Given the description of an element on the screen output the (x, y) to click on. 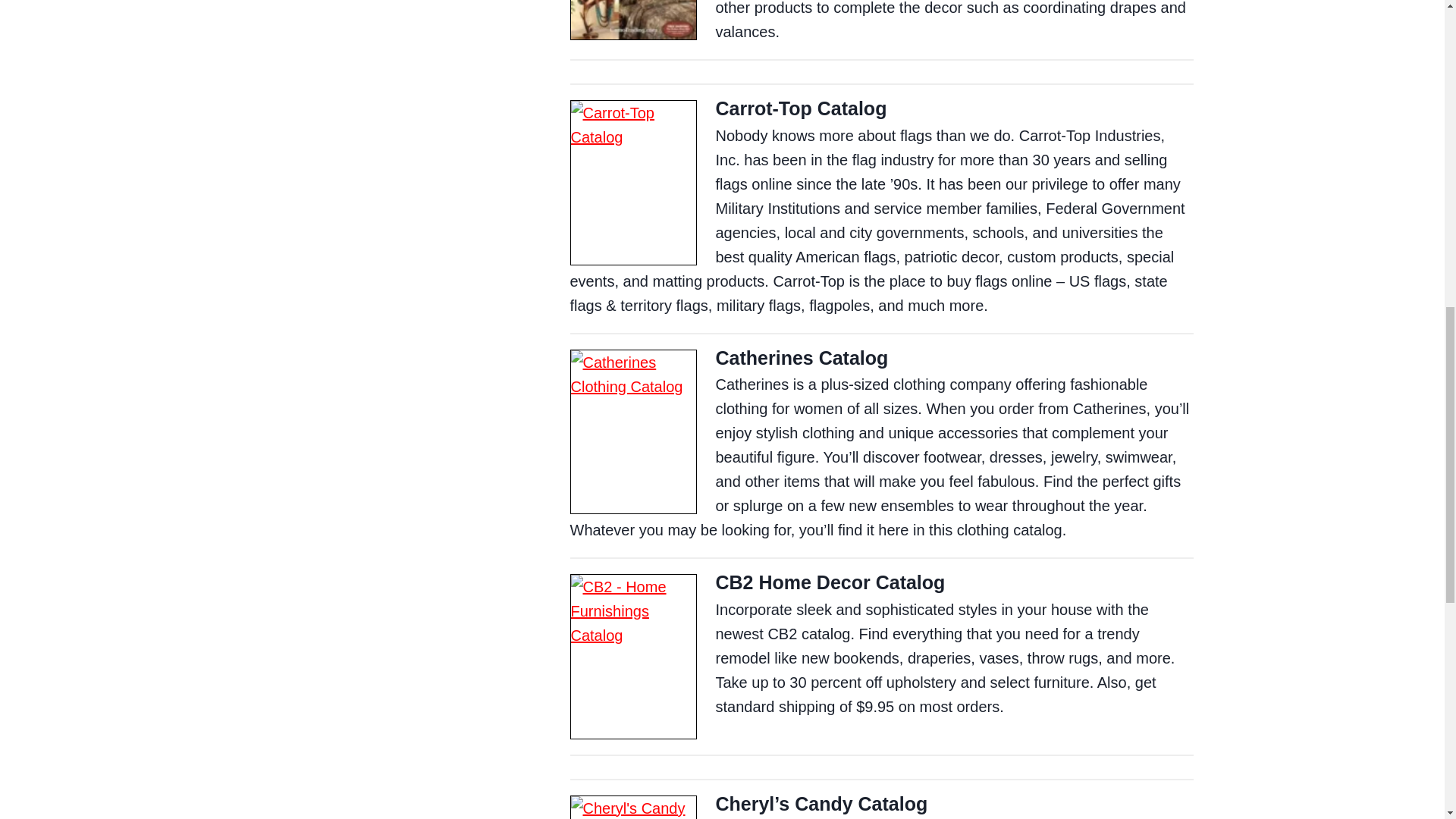
Carrot-Top Catalog (801, 107)
CB2 Home Decor Catalog (830, 581)
Catherines Catalog (802, 357)
